Given the description of an element on the screen output the (x, y) to click on. 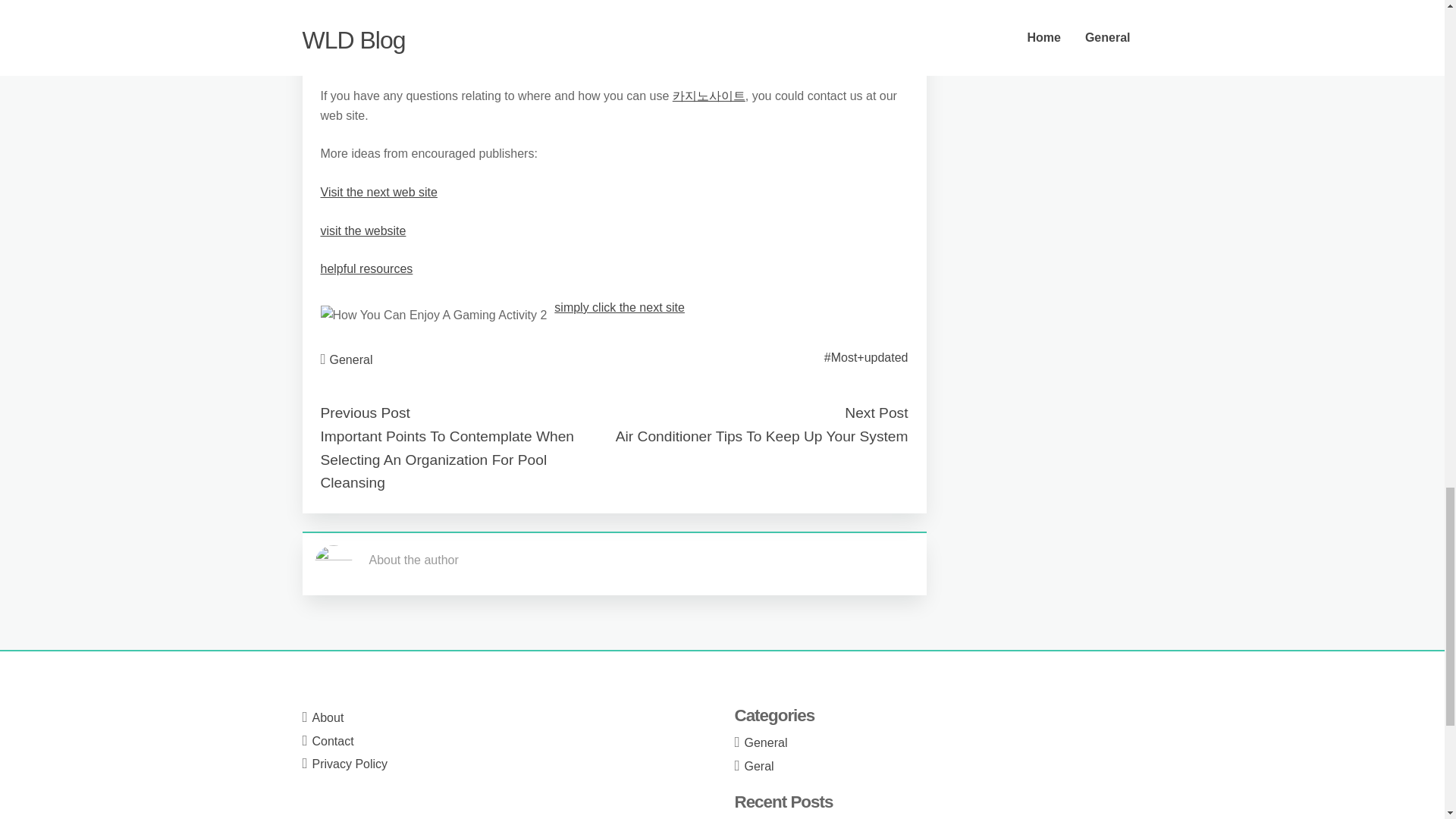
General (765, 742)
Visit the next web site (378, 192)
helpful resources (366, 268)
simply click the next site (619, 307)
Contact (333, 740)
Next Post (875, 412)
Geral (759, 766)
visit the website (363, 230)
General (351, 359)
